Given the description of an element on the screen output the (x, y) to click on. 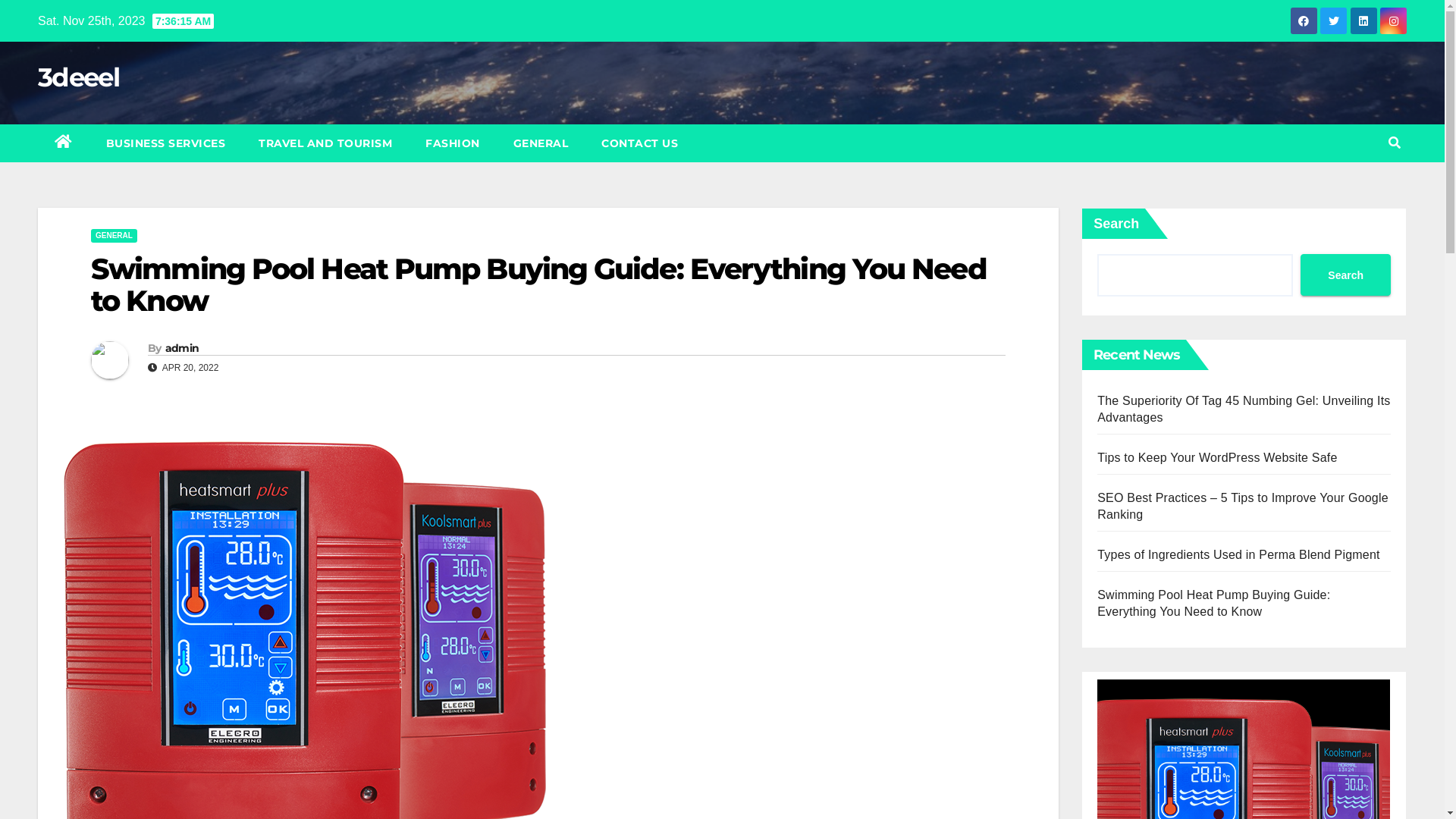
TRAVEL AND TOURISM Element type: text (324, 143)
GENERAL Element type: text (539, 143)
GENERAL Element type: text (114, 235)
Tips to Keep Your WordPress Website Safe Element type: text (1216, 457)
3deeel Element type: text (78, 77)
Search Element type: text (1345, 274)
BUSINESS SERVICES Element type: text (165, 143)
admin Element type: text (182, 347)
FASHION Element type: text (452, 143)
CONTACT US Element type: text (639, 143)
Types of Ingredients Used in Perma Blend Pigment Element type: text (1238, 554)
